Given the description of an element on the screen output the (x, y) to click on. 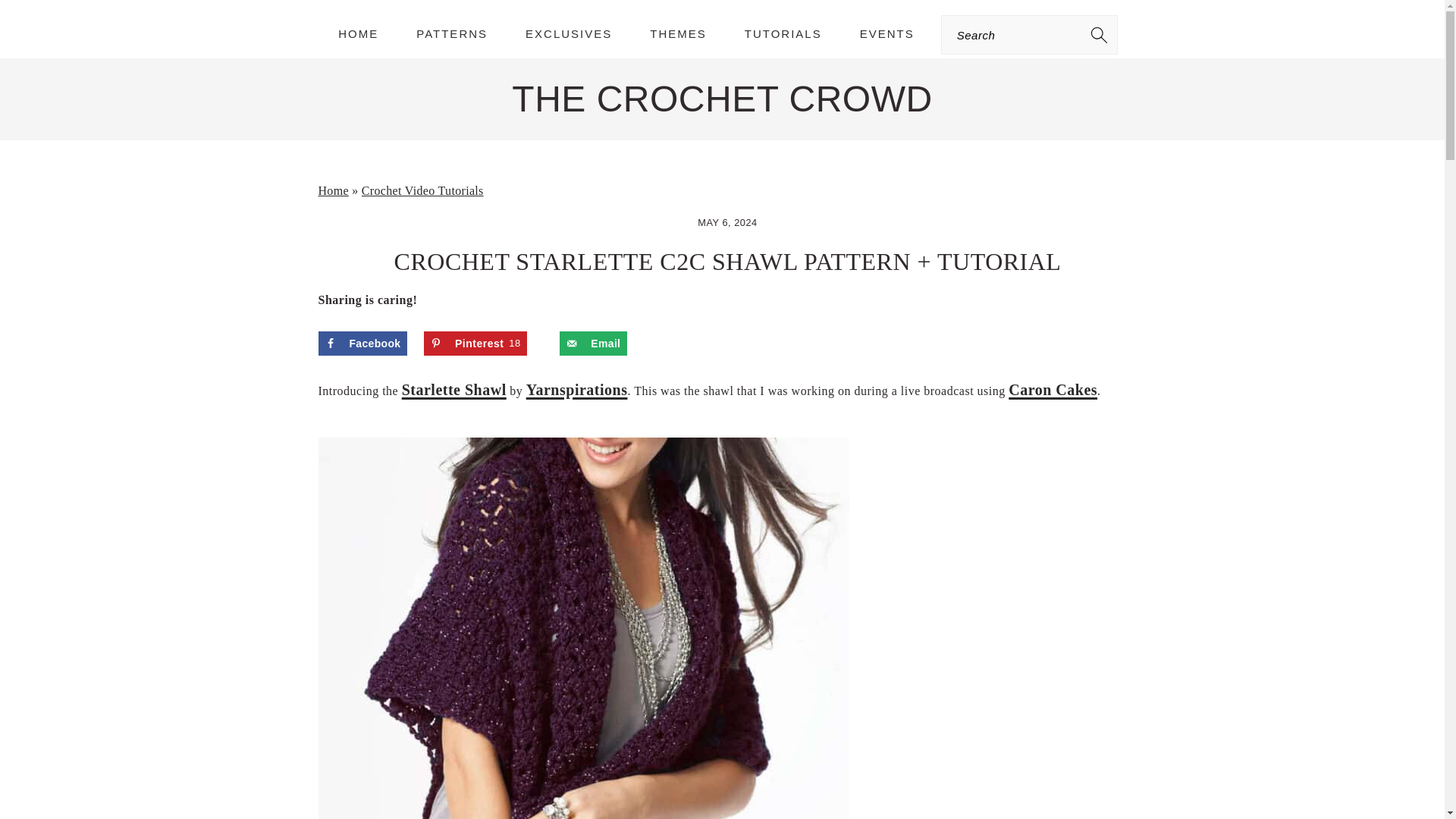
Facebook (362, 343)
PATTERNS (451, 33)
Save to Pinterest (475, 343)
Send over email (593, 343)
EXCLUSIVES (568, 33)
Email (593, 343)
Crochet Video Tutorials (422, 190)
EVENTS (887, 33)
THEMES (677, 33)
HOME (357, 33)
Home (333, 190)
Share on Facebook (362, 343)
Search (475, 343)
THE CROCHET CROWD (275, 19)
